Given the description of an element on the screen output the (x, y) to click on. 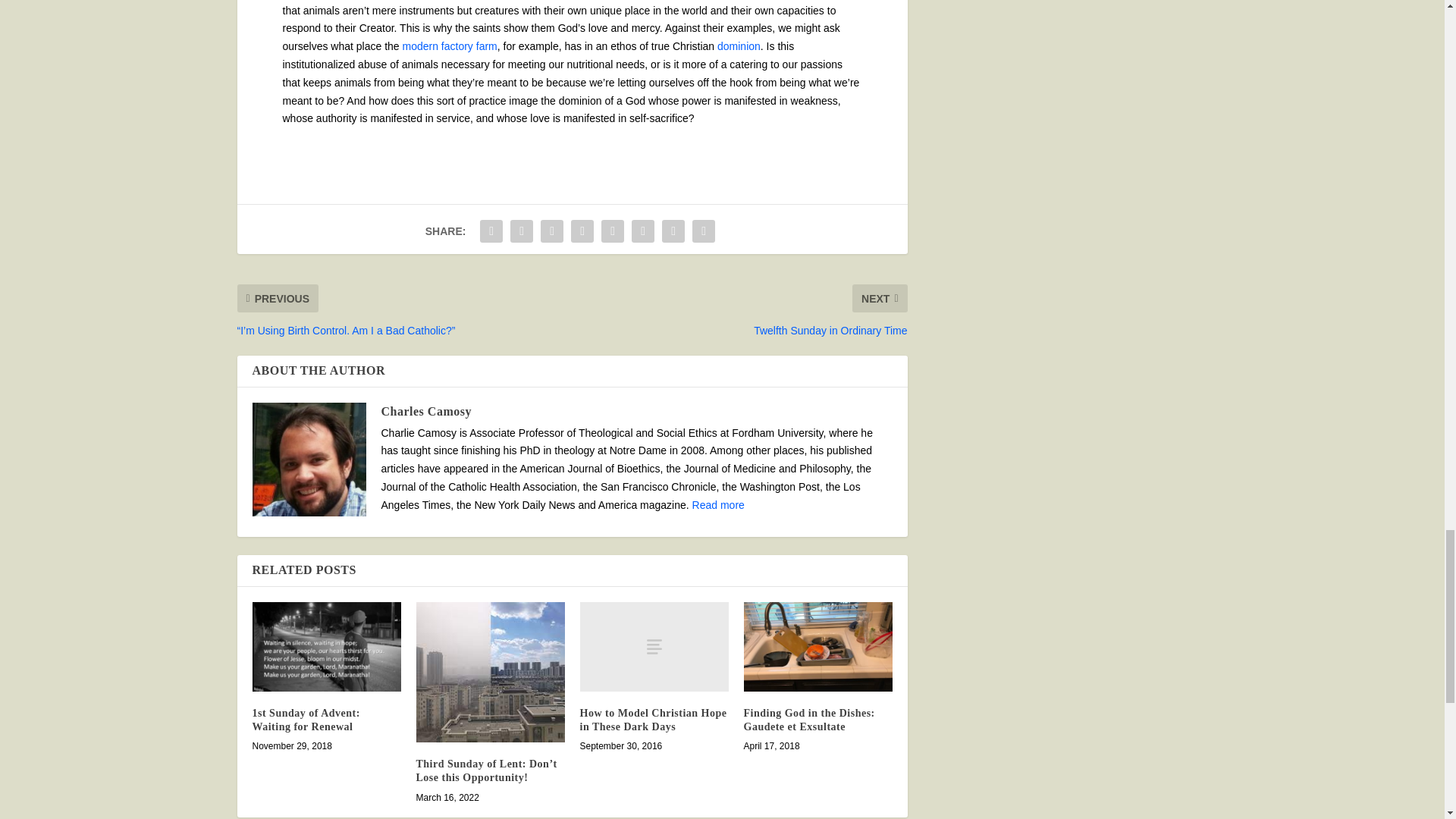
modern factory farm (448, 46)
dominion (738, 46)
